Given the description of an element on the screen output the (x, y) to click on. 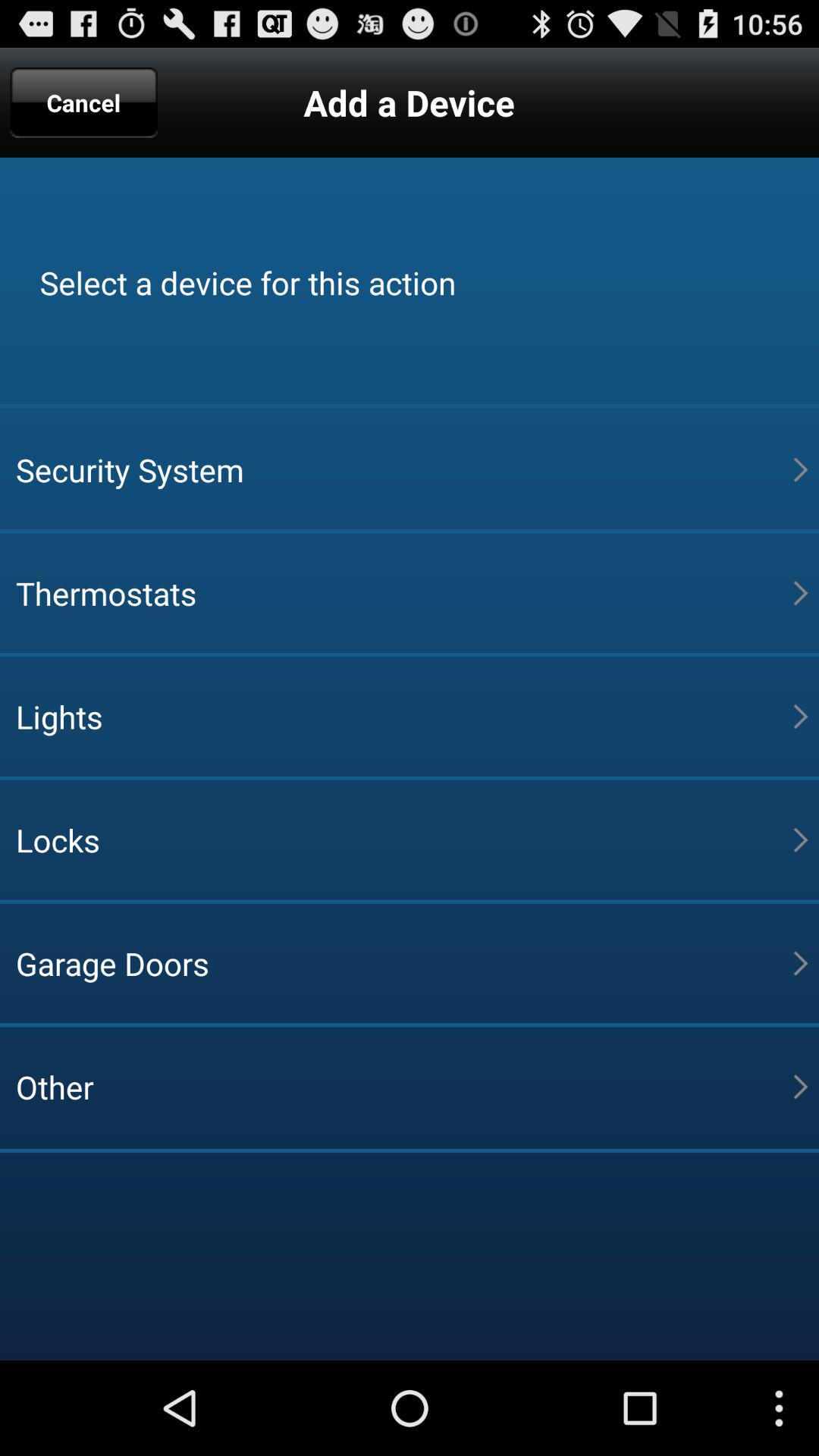
select the item above garage doors icon (403, 839)
